Given the description of an element on the screen output the (x, y) to click on. 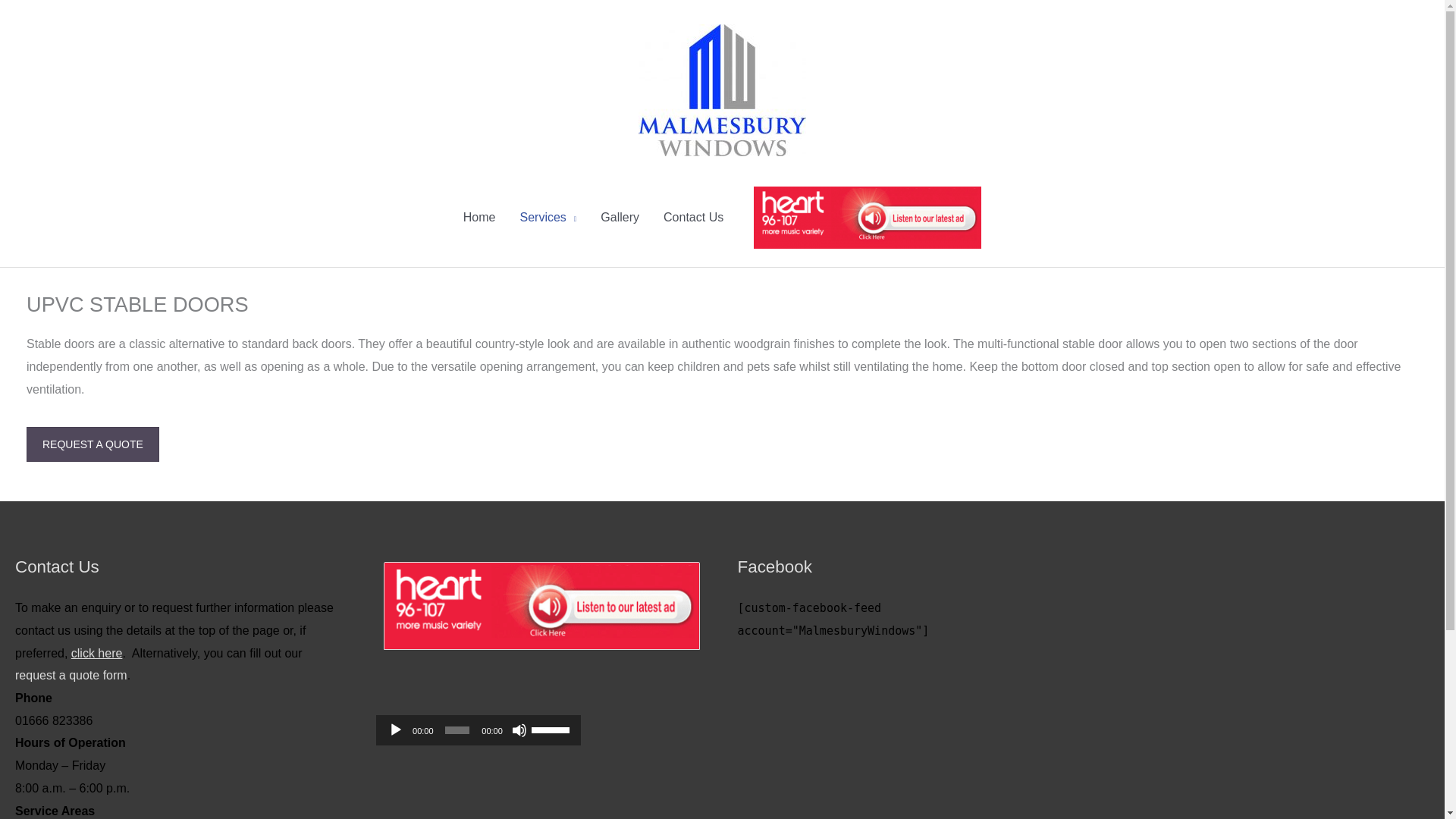
Mute (519, 729)
Home (479, 217)
Services (547, 217)
Play (395, 729)
